Given the description of an element on the screen output the (x, y) to click on. 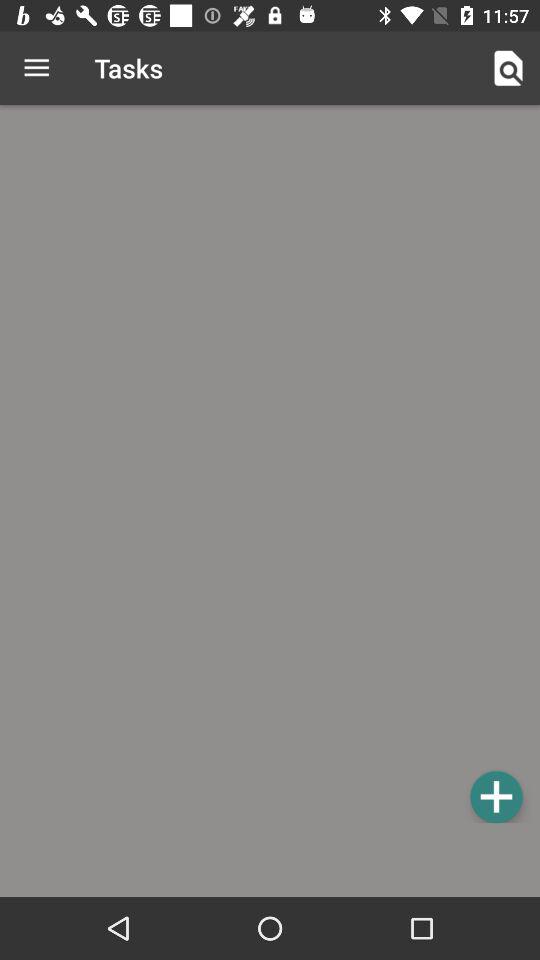
add task (496, 796)
